Given the description of an element on the screen output the (x, y) to click on. 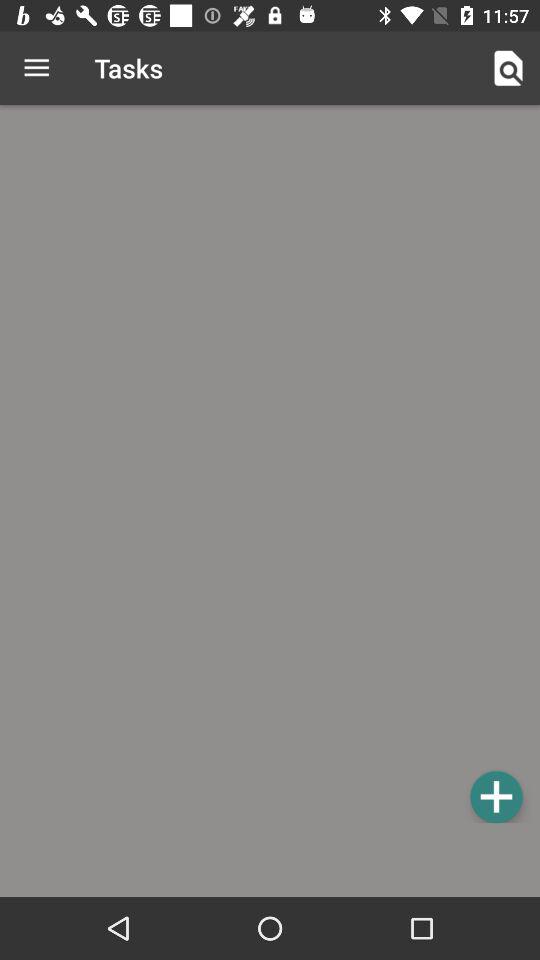
add task (496, 796)
